Given the description of an element on the screen output the (x, y) to click on. 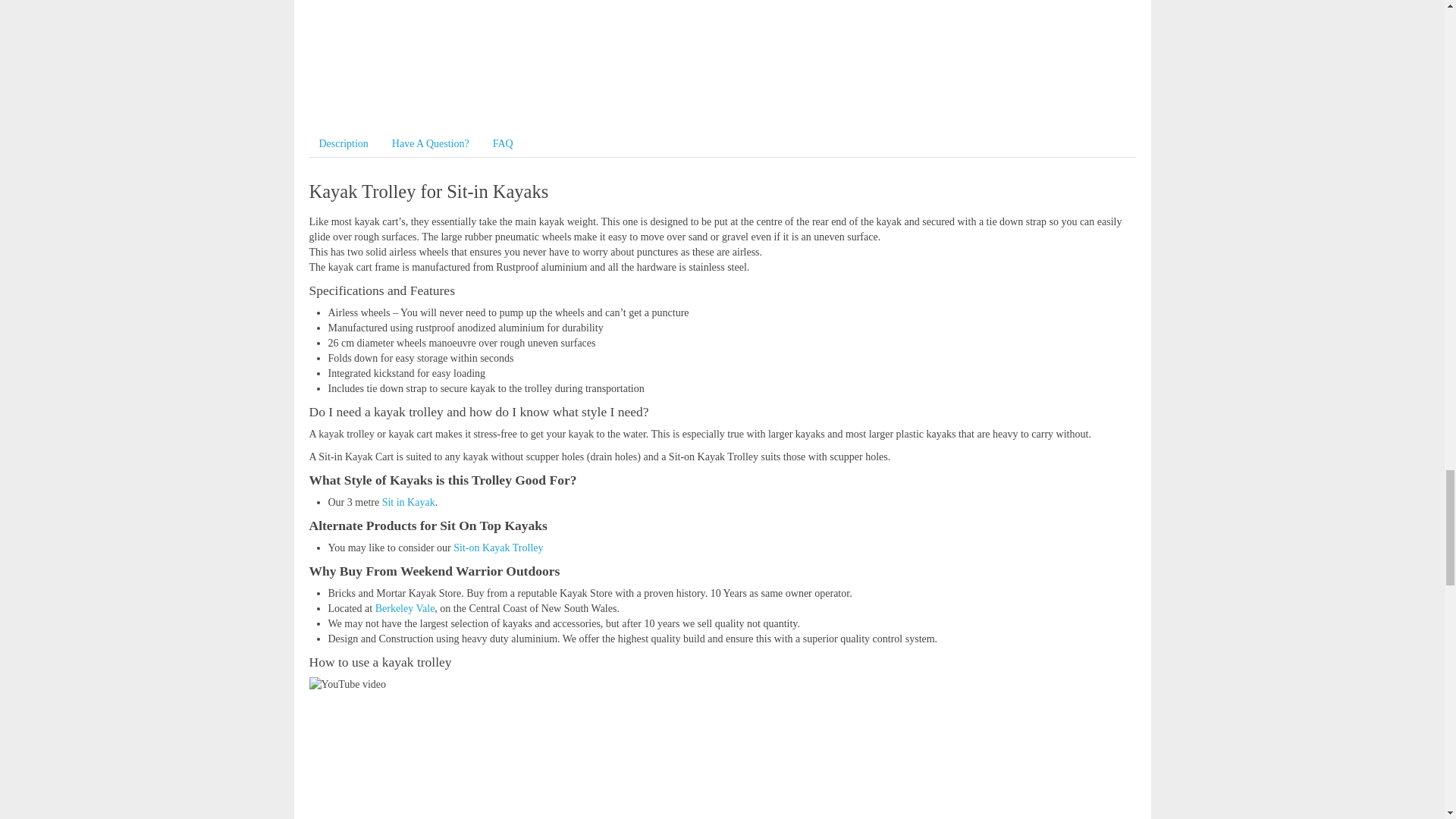
Have A Question? (430, 143)
Description (343, 143)
Kayak Trolley - Sit in (347, 684)
Kayak Trolley - Sit in (507, 54)
FAQ (502, 143)
